Given the description of an element on the screen output the (x, y) to click on. 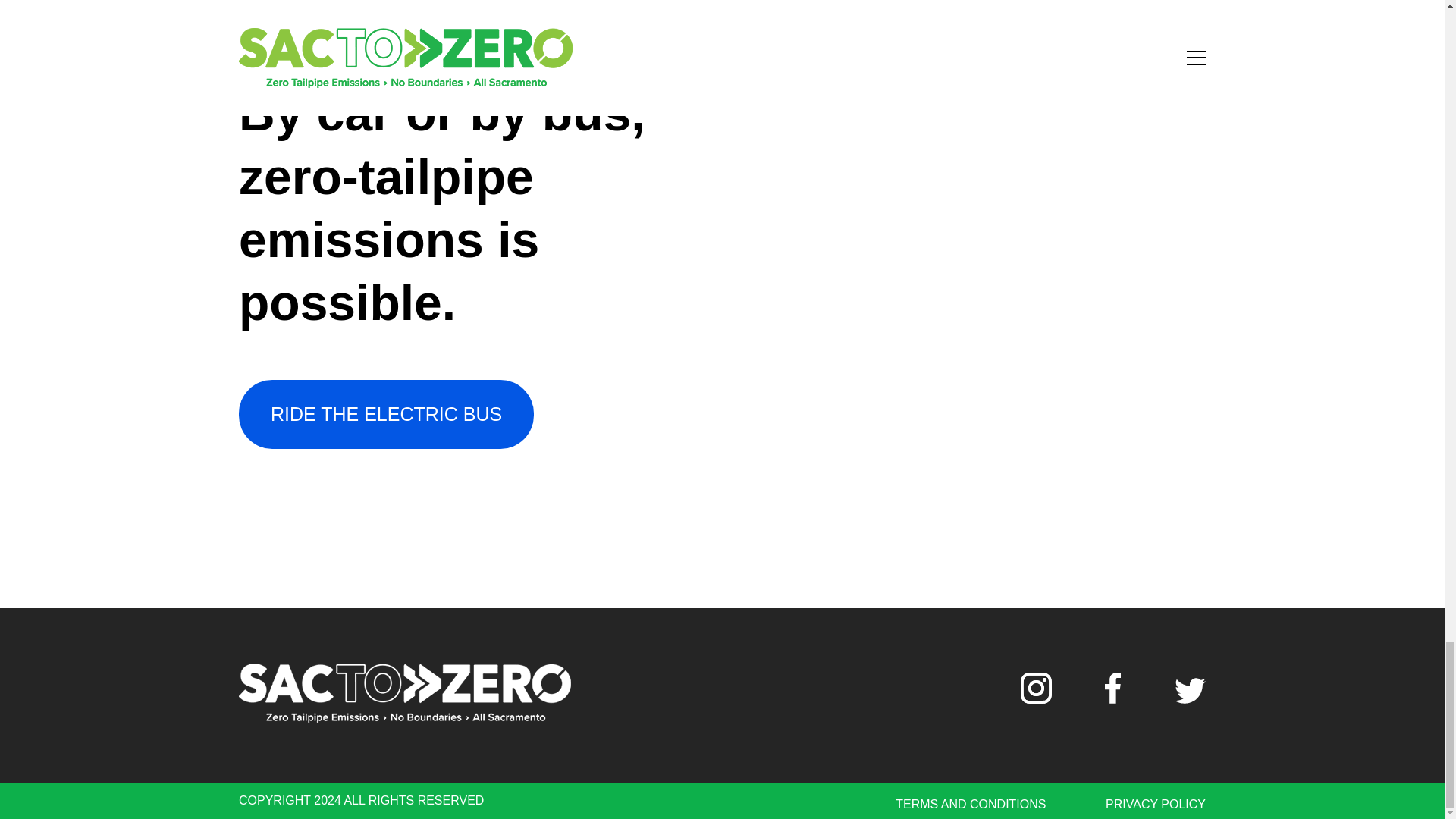
PRIVACY POLICY (1155, 803)
TERMS AND CONDITIONS (970, 803)
RIDE THE ELECTRIC BUS (386, 414)
